Given the description of an element on the screen output the (x, y) to click on. 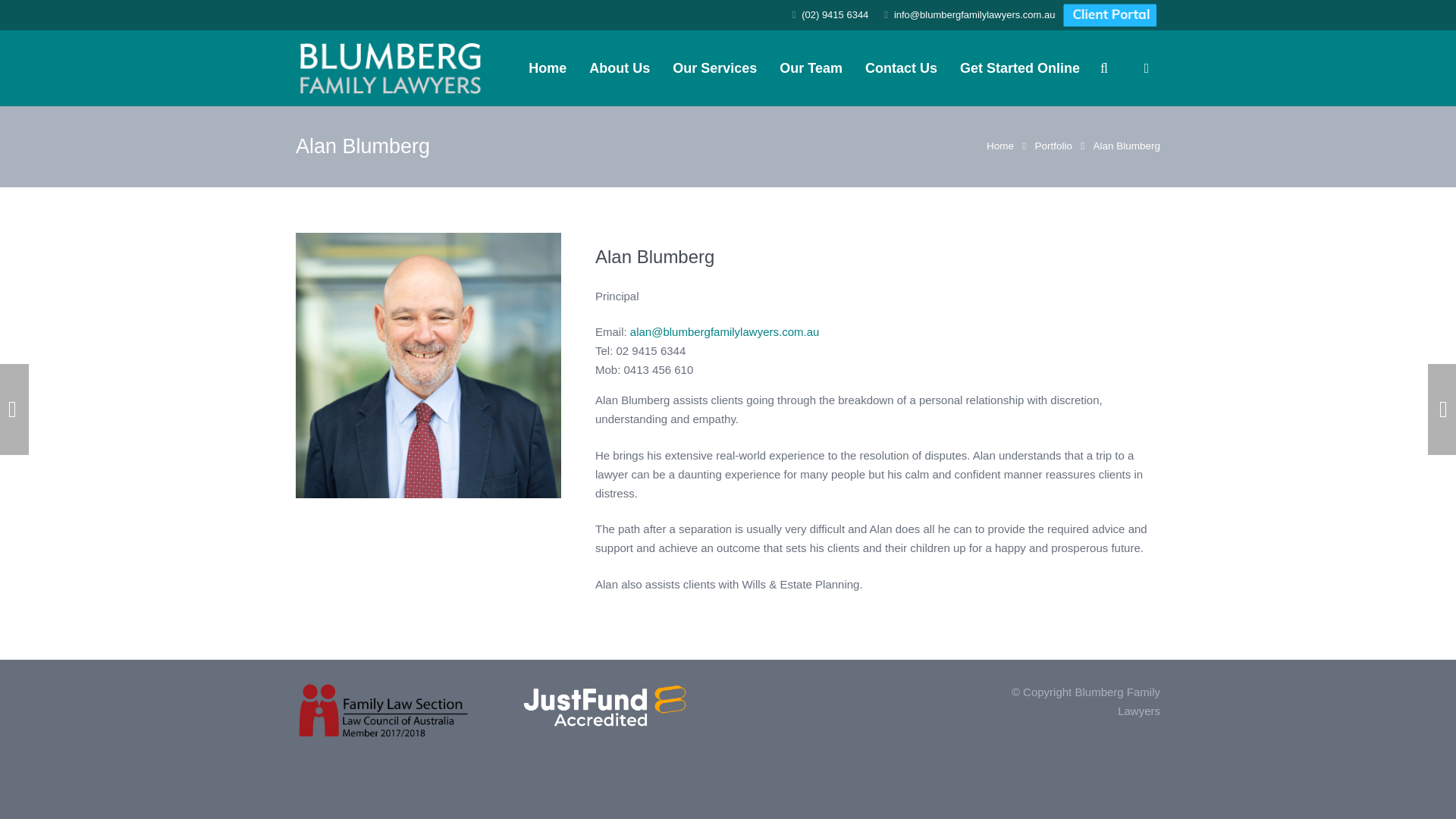
Get Started Online (1019, 67)
Our Services (714, 67)
About Us (619, 67)
Our Team (810, 67)
Home (1000, 145)
Home (547, 67)
Contact Us (901, 67)
